Given the description of an element on the screen output the (x, y) to click on. 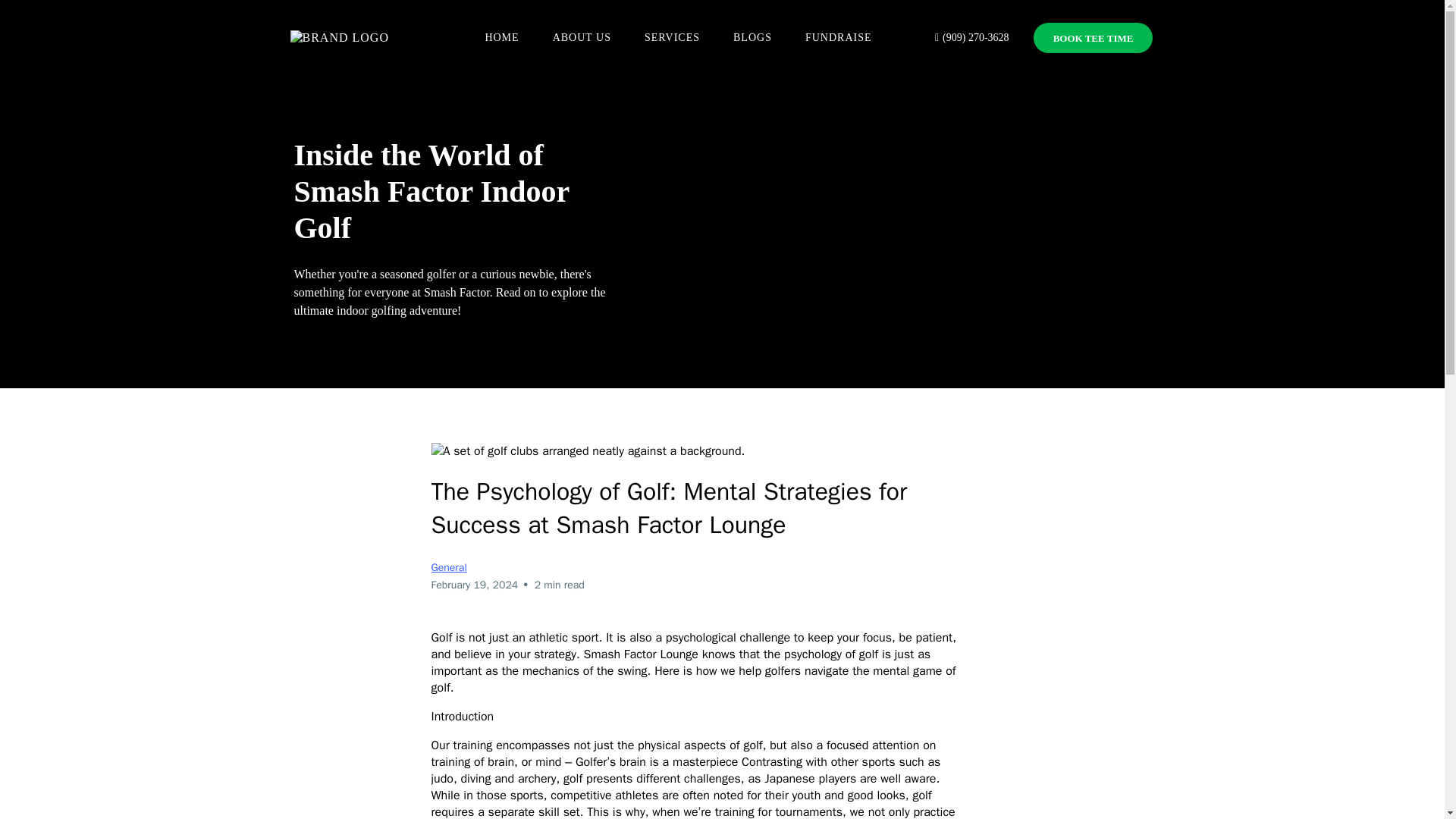
General (447, 567)
HOME (501, 38)
SERVICES (671, 38)
BLOGS (752, 38)
ABOUT US (581, 38)
BOOK TEE TIME (1093, 37)
FUNDRAISE (838, 38)
